Given the description of an element on the screen output the (x, y) to click on. 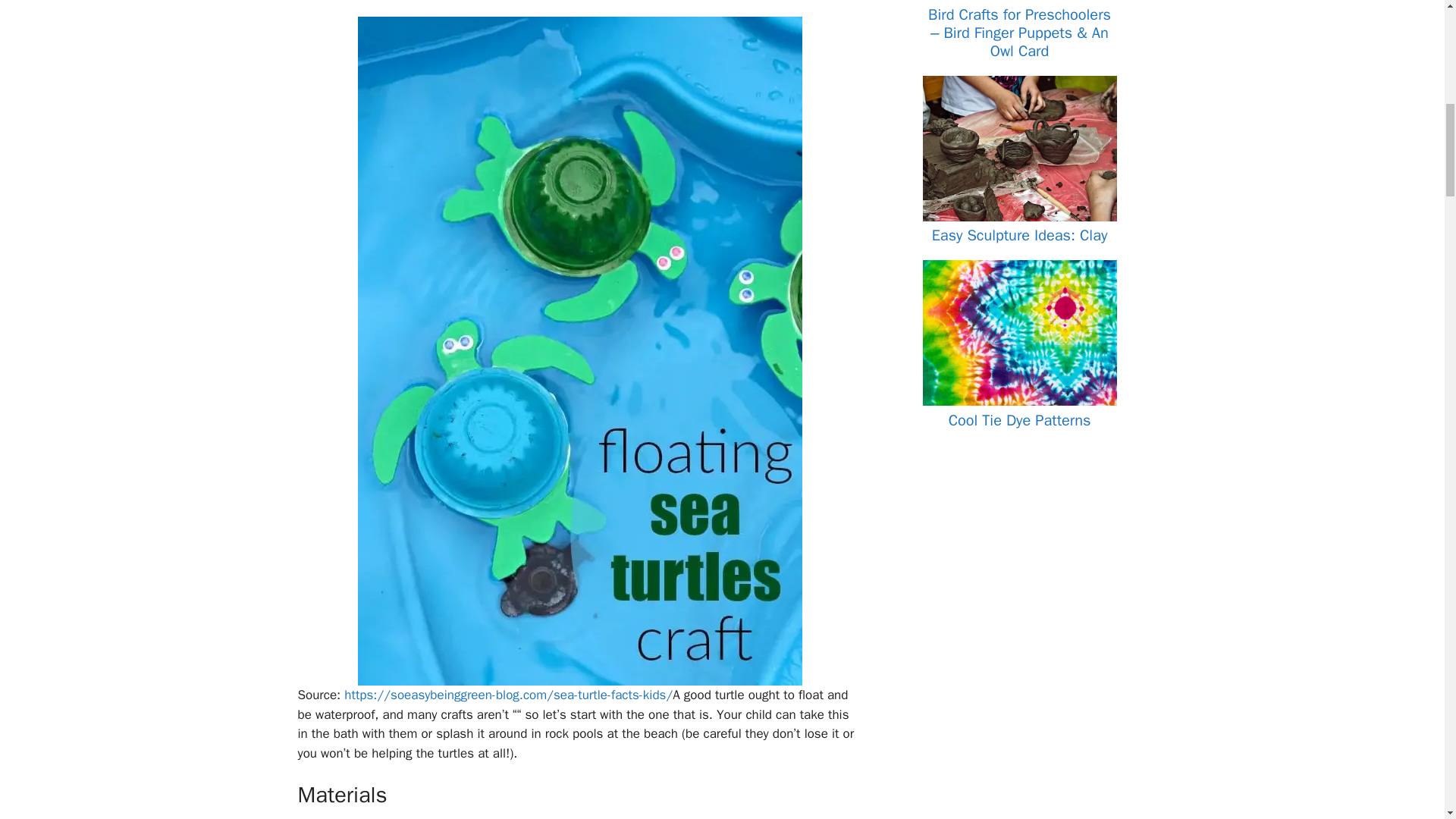
Cool Tie Dye Patterns (1019, 420)
Cool Tie Dye Patterns (1018, 401)
Easy Sculpture Ideas: Clay (1018, 217)
Easy Sculpture Ideas: Clay (1019, 235)
